Given the description of an element on the screen output the (x, y) to click on. 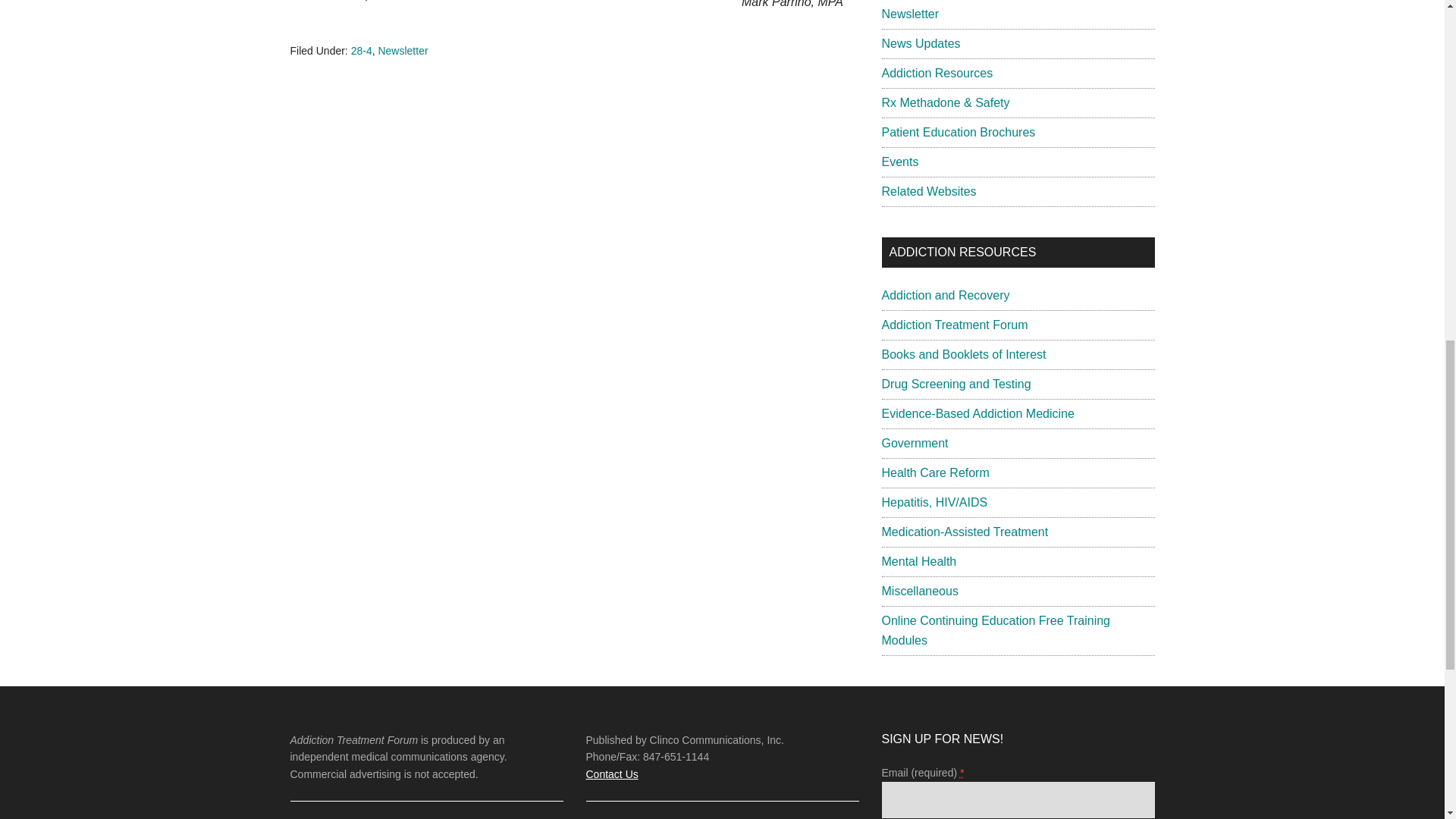
Patient Education Brochures (957, 132)
28-4 (361, 50)
required (961, 772)
Events (899, 161)
Medication-Assisted Treatment (964, 531)
Related Websites (927, 191)
Addiction Resources (936, 72)
Drug Screening and Testing (955, 383)
Books and Booklets of Interest (962, 354)
Miscellaneous (919, 590)
Newsletter (402, 50)
Addiction Treatment Forum (953, 324)
Government (913, 442)
Evidence-Based Addiction Medicine (977, 413)
Health Care Reform (934, 472)
